Given the description of an element on the screen output the (x, y) to click on. 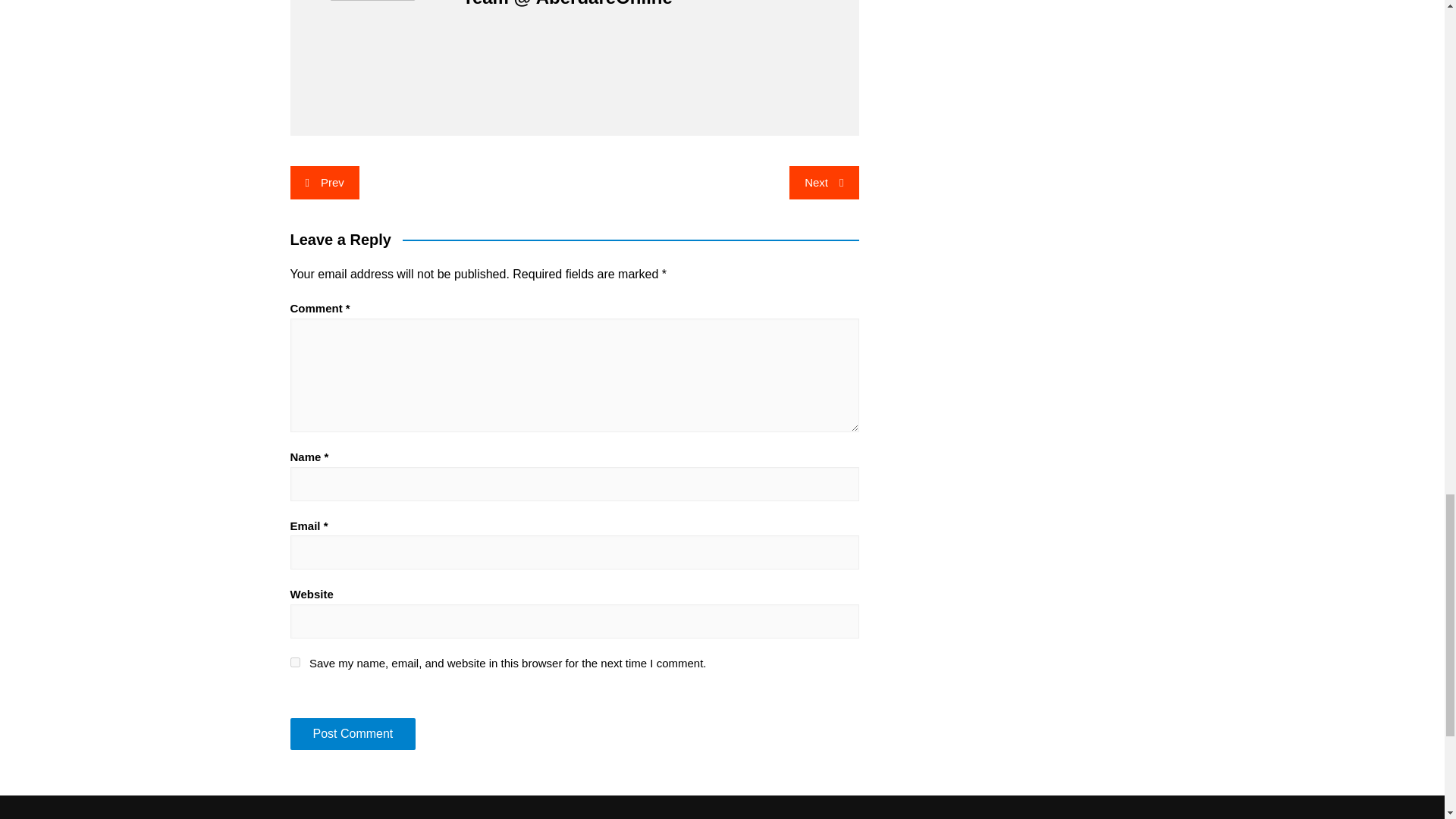
yes (294, 662)
Post Comment (351, 734)
Prev (323, 182)
Next (824, 182)
